Given the description of an element on the screen output the (x, y) to click on. 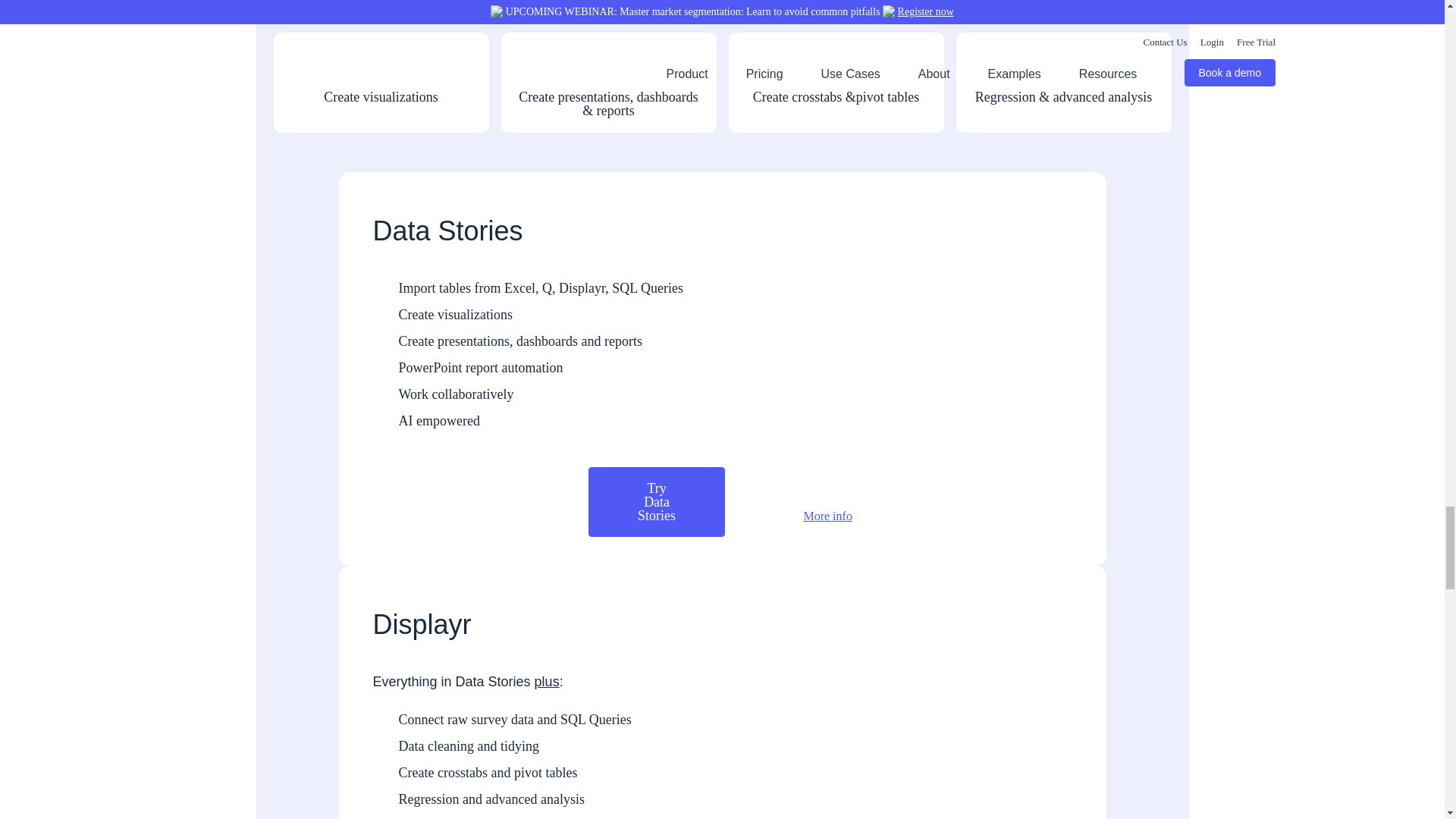
Advanced analysis (981, 99)
Visualisations (299, 99)
Presentations (526, 99)
Crosstabs (753, 99)
